Given the description of an element on the screen output the (x, y) to click on. 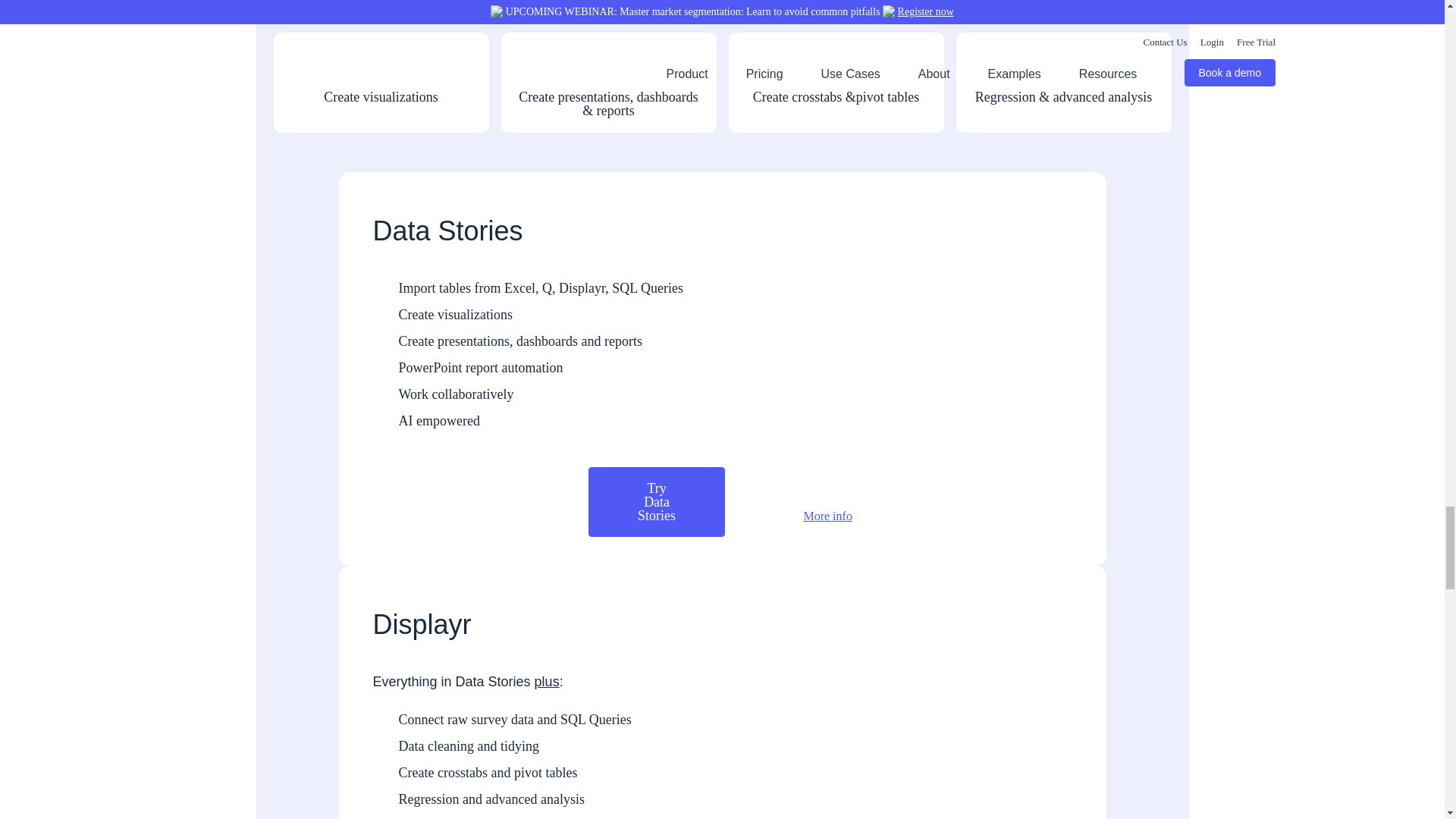
Advanced analysis (981, 99)
Visualisations (299, 99)
Presentations (526, 99)
Crosstabs (753, 99)
